Given the description of an element on the screen output the (x, y) to click on. 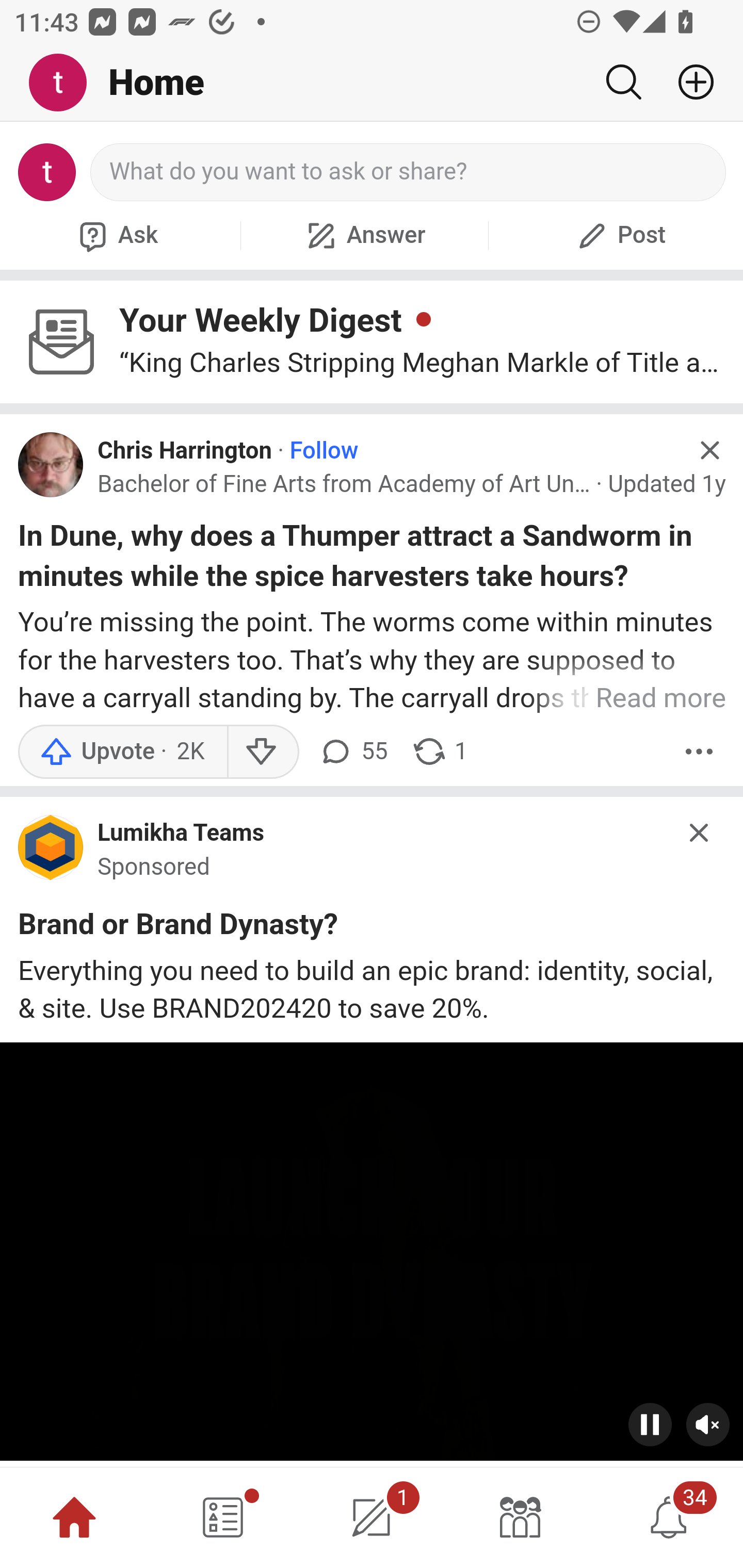
Me Home Search Add (371, 82)
Me (64, 83)
Search (623, 82)
Add (688, 82)
What do you want to ask or share? (408, 172)
Ask (116, 234)
Answer (364, 234)
Post (618, 234)
Hide (709, 449)
Profile photo for Chris Harrington (50, 465)
Chris Harrington (184, 451)
Follow (323, 451)
Updated 1y Updated  1 y (667, 484)
Upvote (122, 751)
Downvote (262, 751)
55 comments (352, 751)
1 share (439, 751)
More (699, 751)
Hide (699, 832)
main-qimg-f5d4e8fd1215ba730a24b98a5815bcba (50, 851)
Lumikha Teams (181, 833)
Sponsored (154, 866)
Brand or Brand Dynasty? (178, 928)
Pause (650, 1424)
VolumeMuted (708, 1424)
1 (371, 1517)
34 (668, 1517)
